Given the description of an element on the screen output the (x, y) to click on. 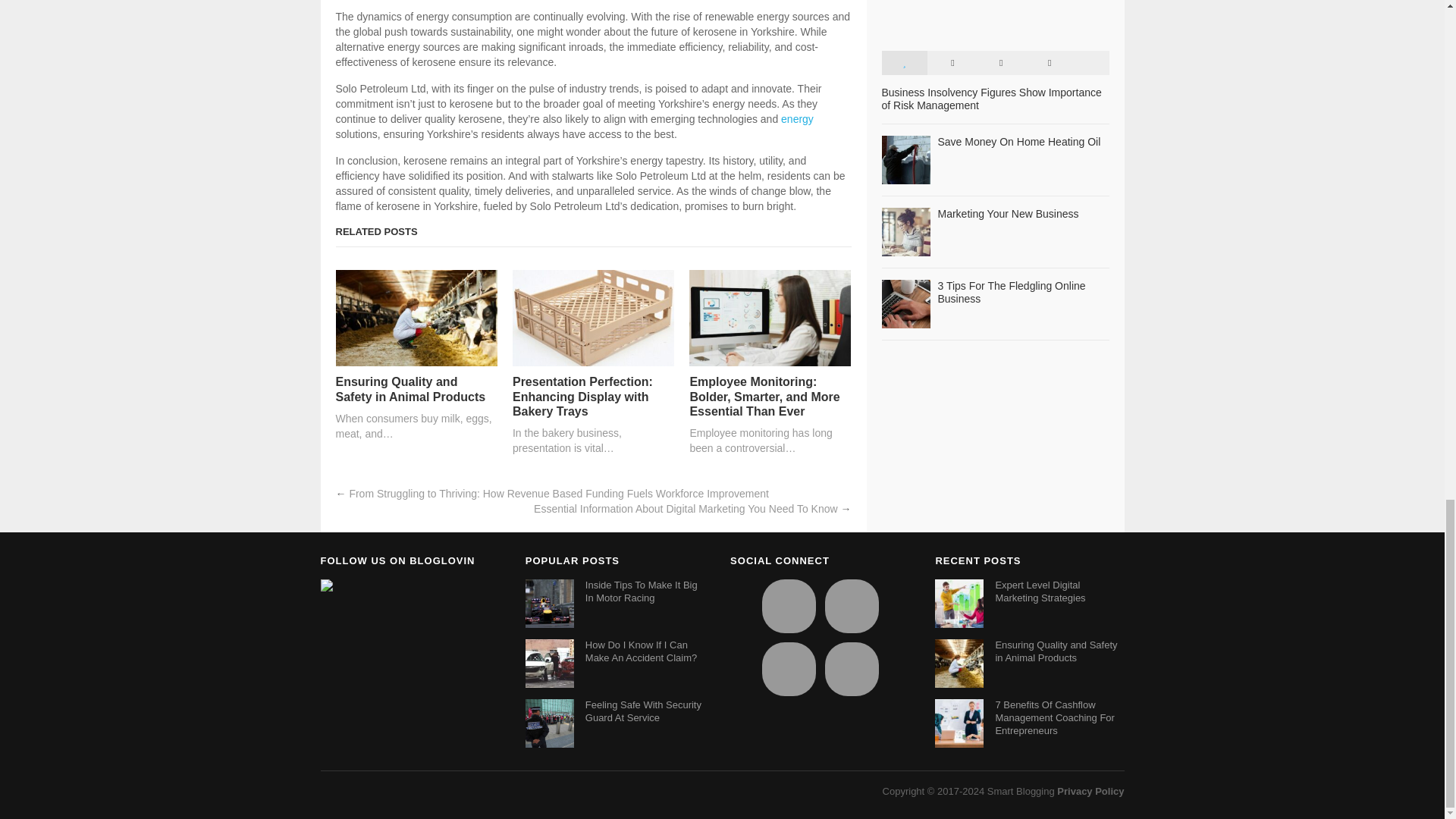
Latest (952, 62)
Tags (1048, 62)
Comments (1000, 62)
Popular (903, 62)
